Given the description of an element on the screen output the (x, y) to click on. 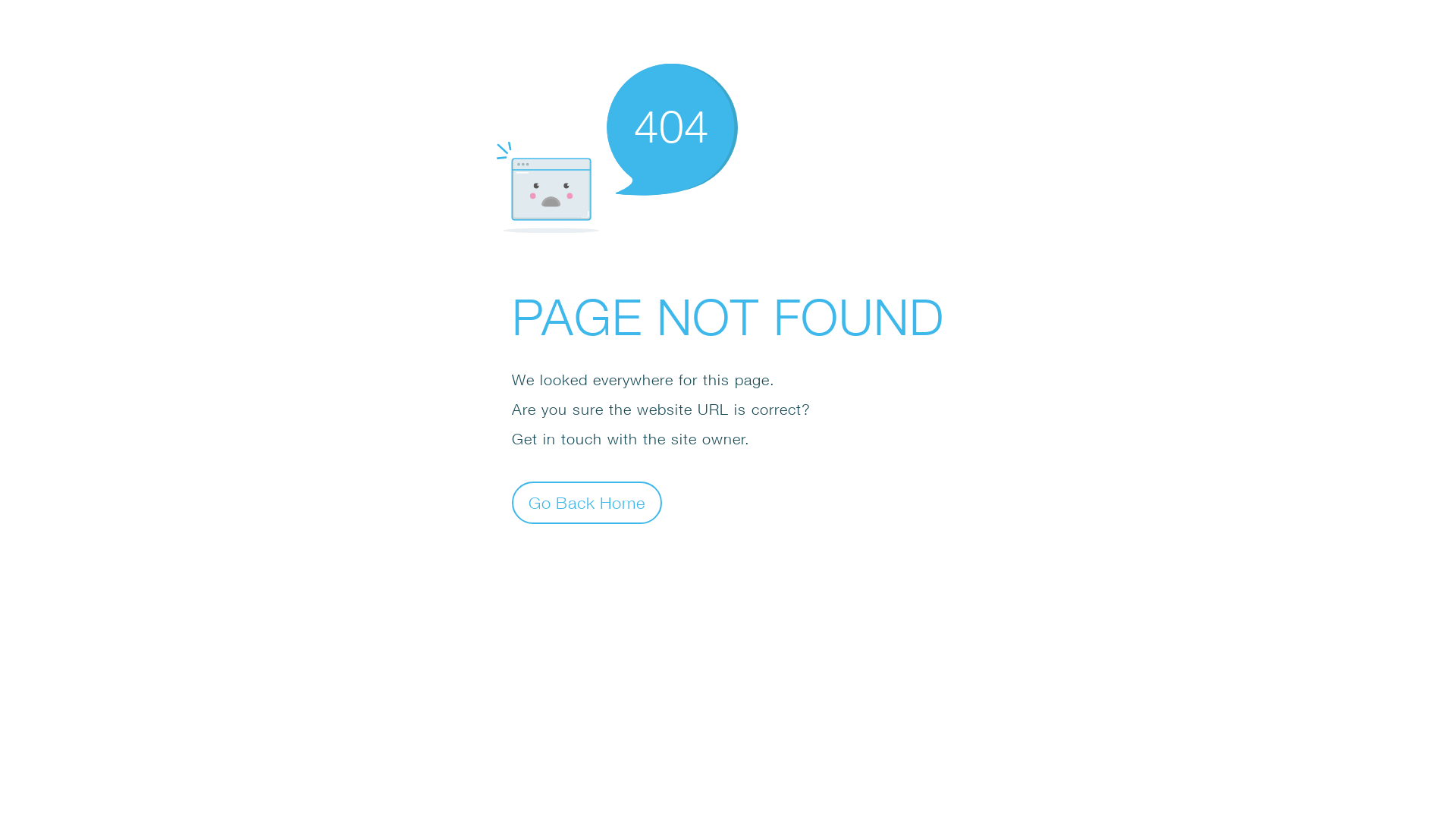
Go Back Home Element type: text (586, 502)
